Given the description of an element on the screen output the (x, y) to click on. 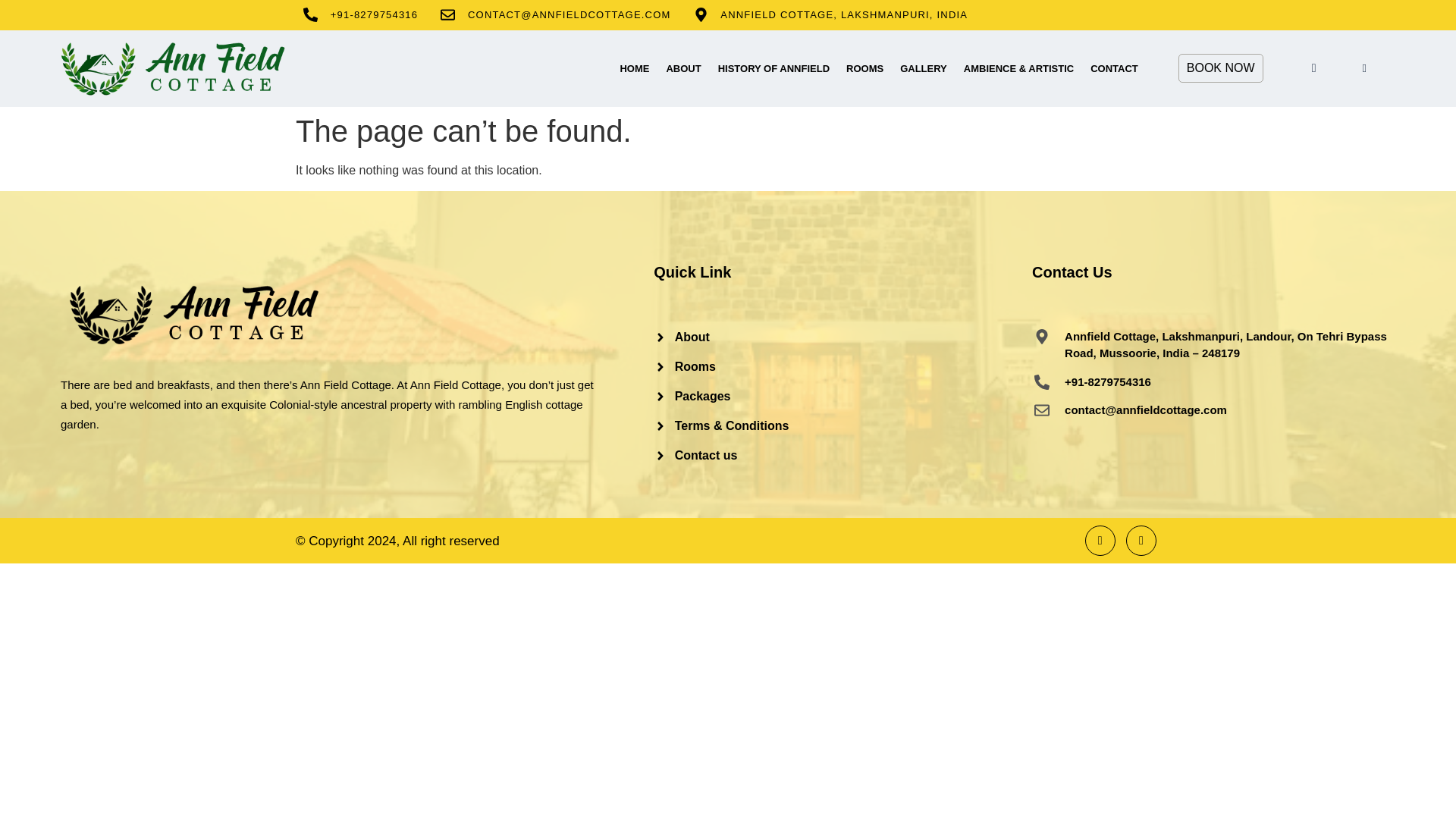
About (842, 336)
Contact us (842, 454)
Packages (842, 395)
GALLERY (923, 67)
ROOMS (864, 67)
HISTORY OF ANNFIELD (774, 67)
CONTACT (1114, 67)
HOME (634, 67)
Rooms (842, 366)
ABOUT (683, 67)
